Given the description of an element on the screen output the (x, y) to click on. 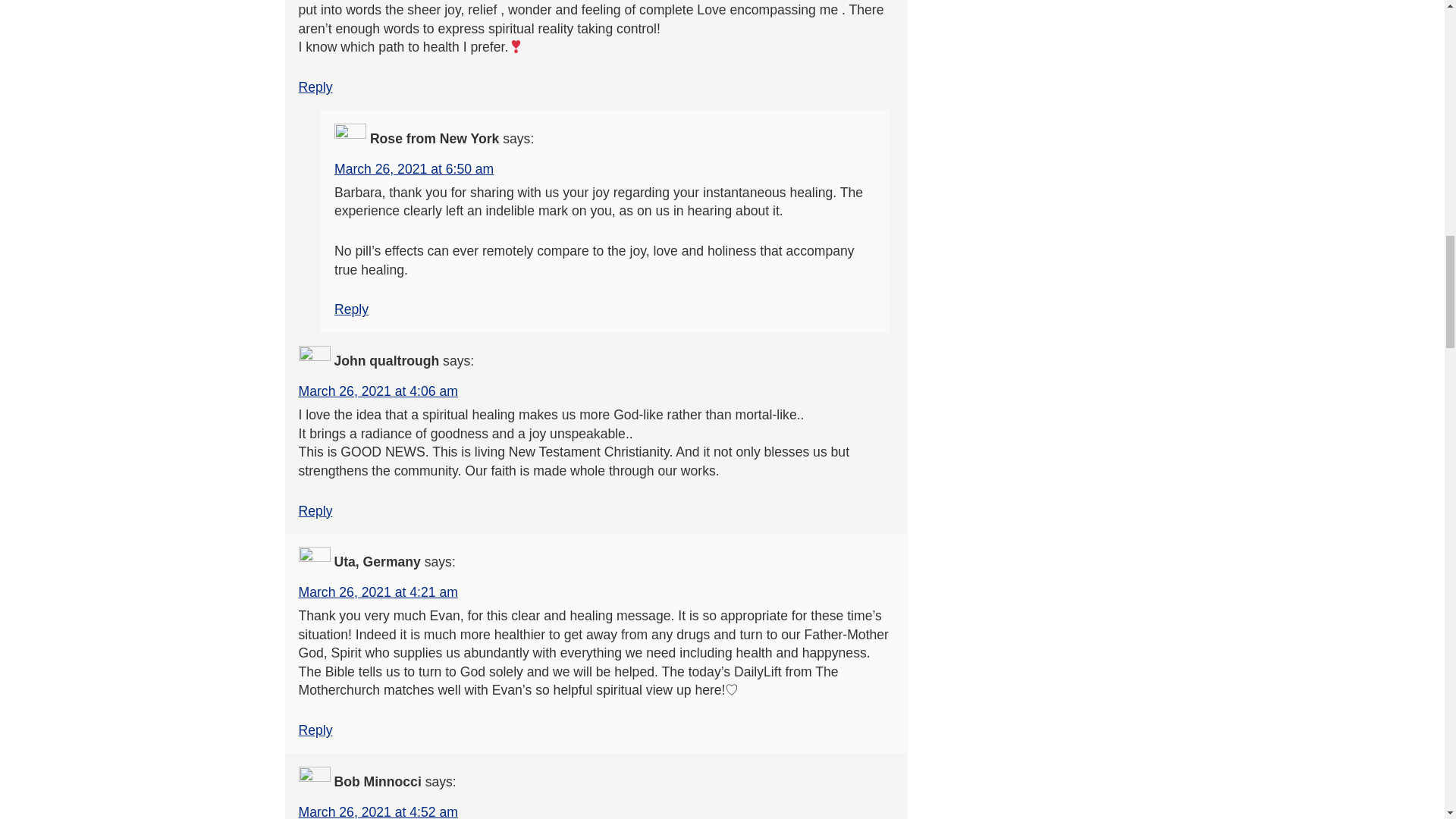
Reply (351, 309)
Reply (315, 87)
March 26, 2021 at 4:06 am (378, 391)
Reply (315, 729)
Reply (315, 510)
March 26, 2021 at 6:50 am (413, 168)
March 26, 2021 at 4:21 am (378, 591)
